Given the description of an element on the screen output the (x, y) to click on. 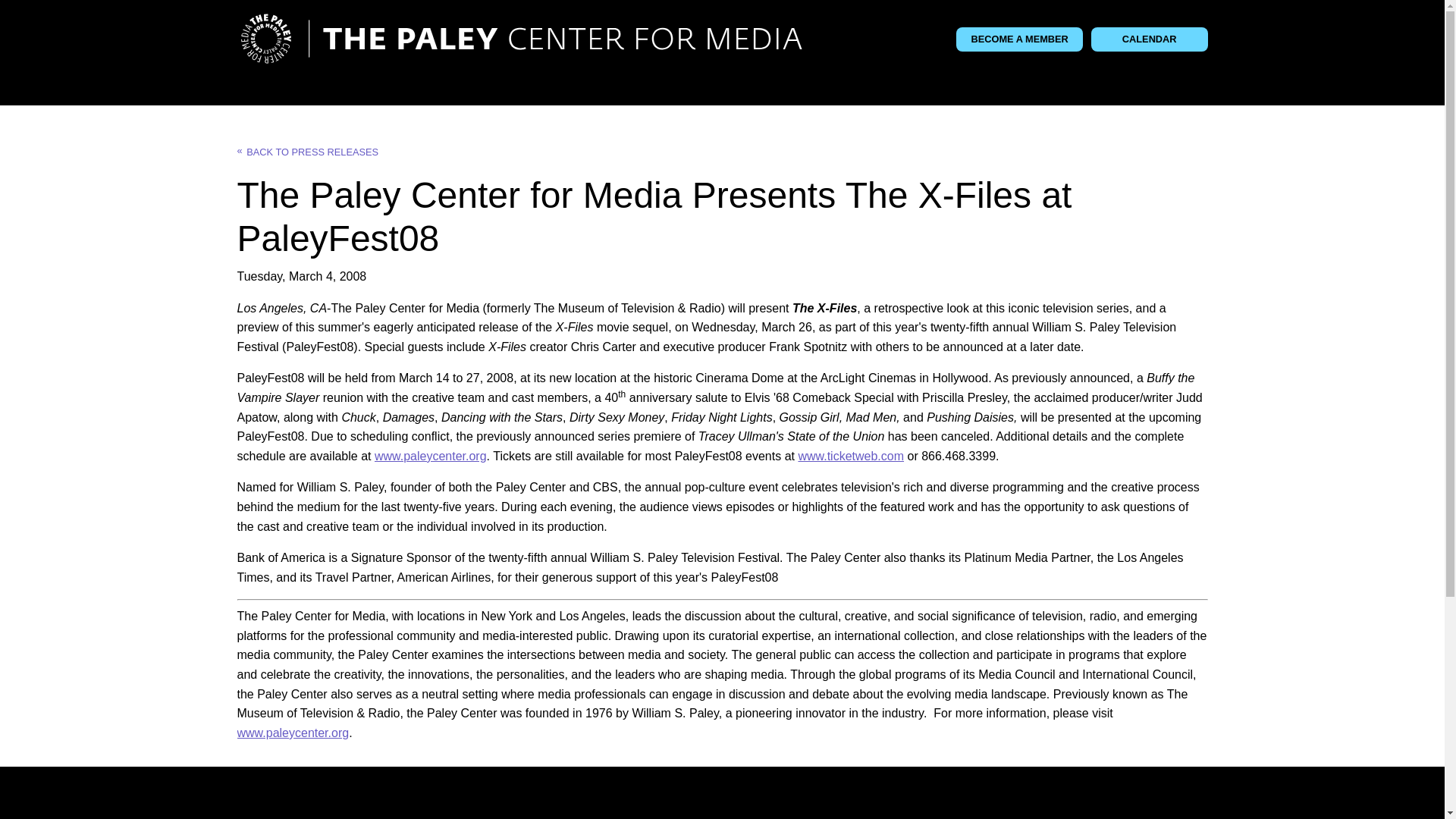
The Paley Center for Media (520, 38)
www.ticketweb.com (850, 455)
www.paleycenter.org (430, 455)
BACK TO PRESS RELEASES (306, 152)
BECOME A MEMBER (1019, 39)
www.paleycenter.org (292, 732)
CALENDAR (1149, 39)
